Given the description of an element on the screen output the (x, y) to click on. 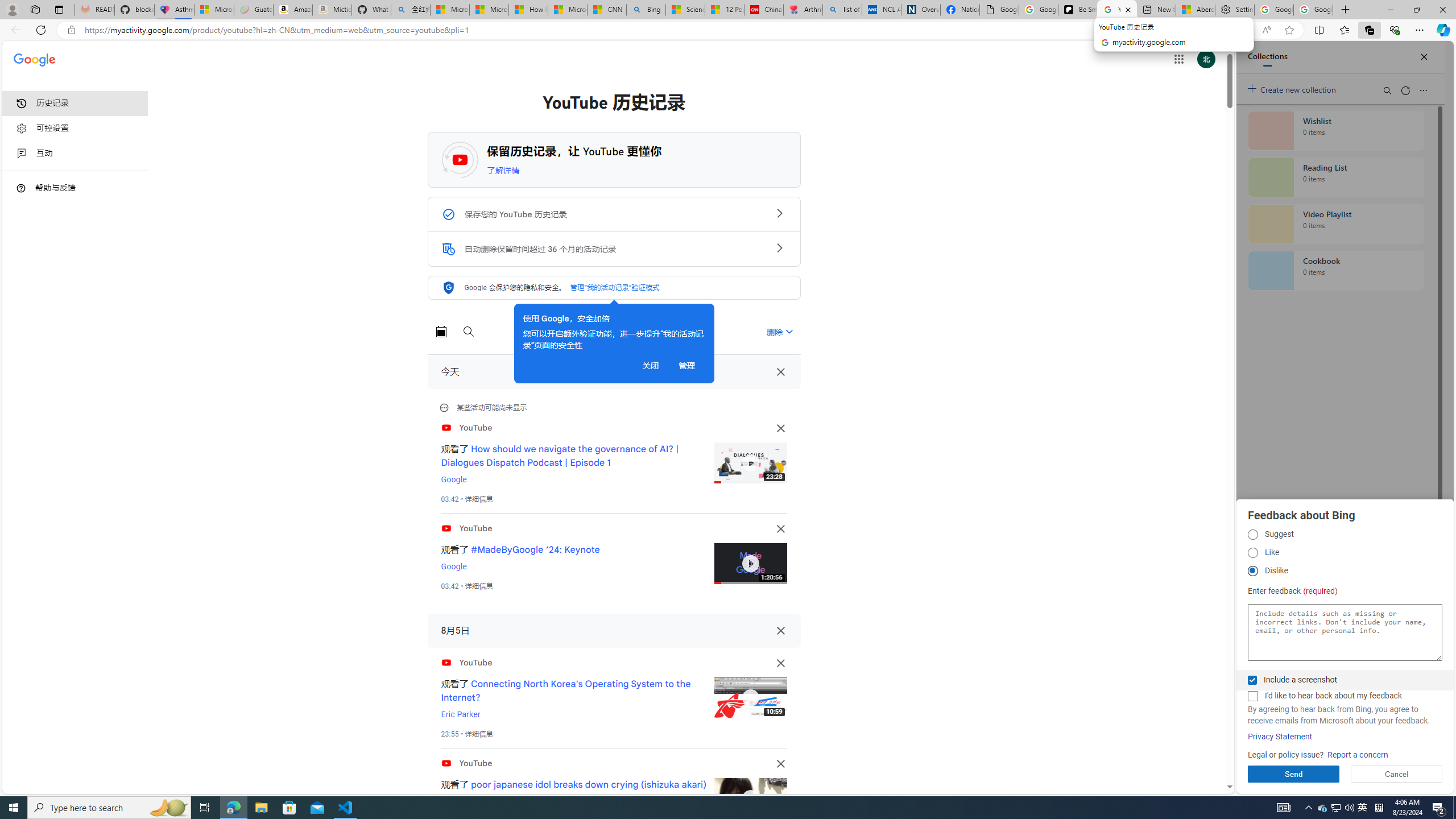
Google Analytics Opt-out Browser Add-on Download Page (999, 9)
AutomationID: fbpgdgtp1 (1252, 534)
Class: i2GIId (21, 153)
